Given the description of an element on the screen output the (x, y) to click on. 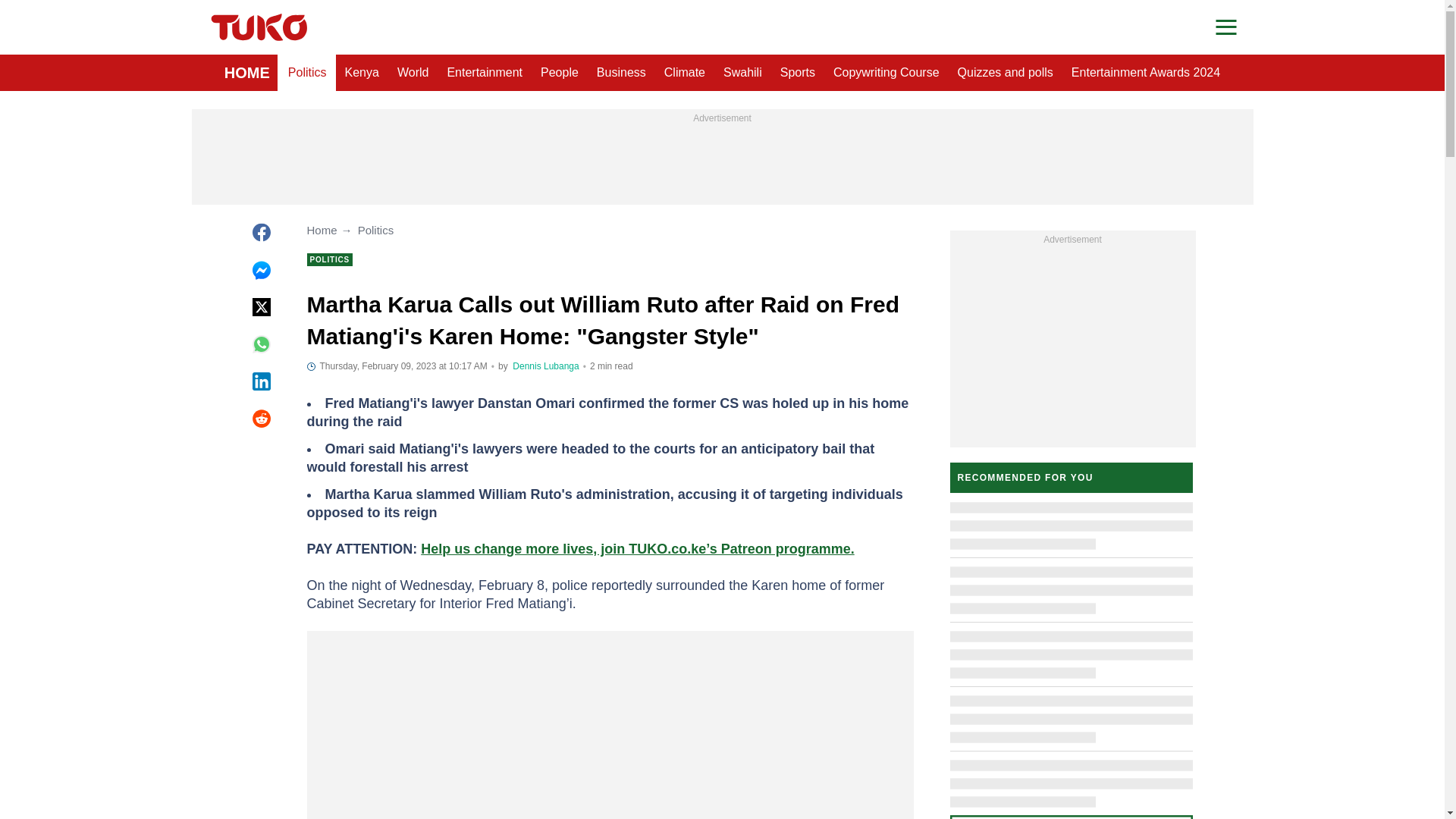
World (413, 72)
People (559, 72)
Copywriting Course (886, 72)
Swahili (742, 72)
Politics (307, 72)
Kenya (362, 72)
Entertainment (484, 72)
Sports (797, 72)
Author page (545, 366)
Business (621, 72)
HOME (247, 72)
Quizzes and polls (1005, 72)
Climate (684, 72)
Entertainment Awards 2024 (1145, 72)
